Given the description of an element on the screen output the (x, y) to click on. 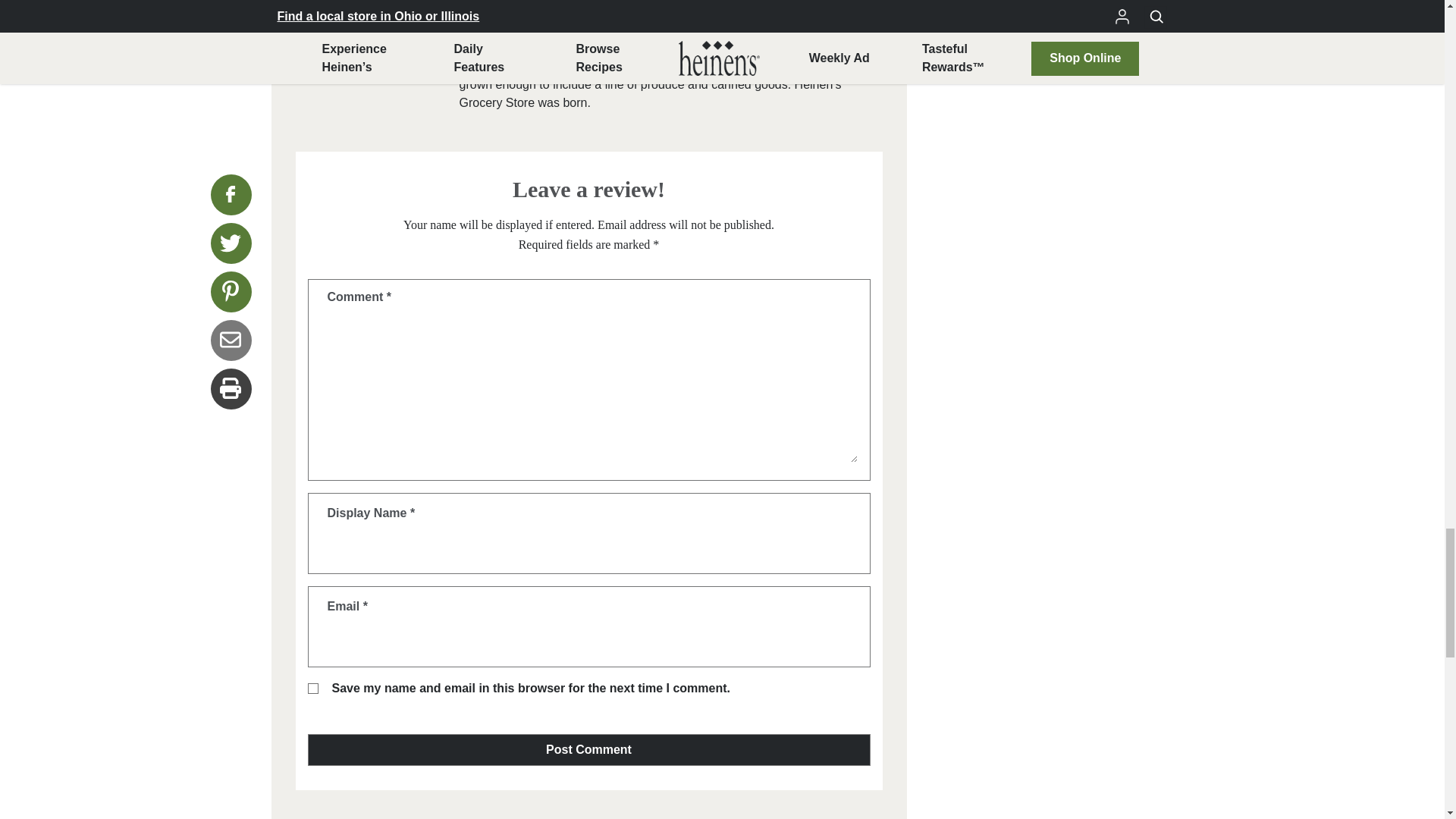
Post Comment (588, 749)
yes (312, 688)
